Given the description of an element on the screen output the (x, y) to click on. 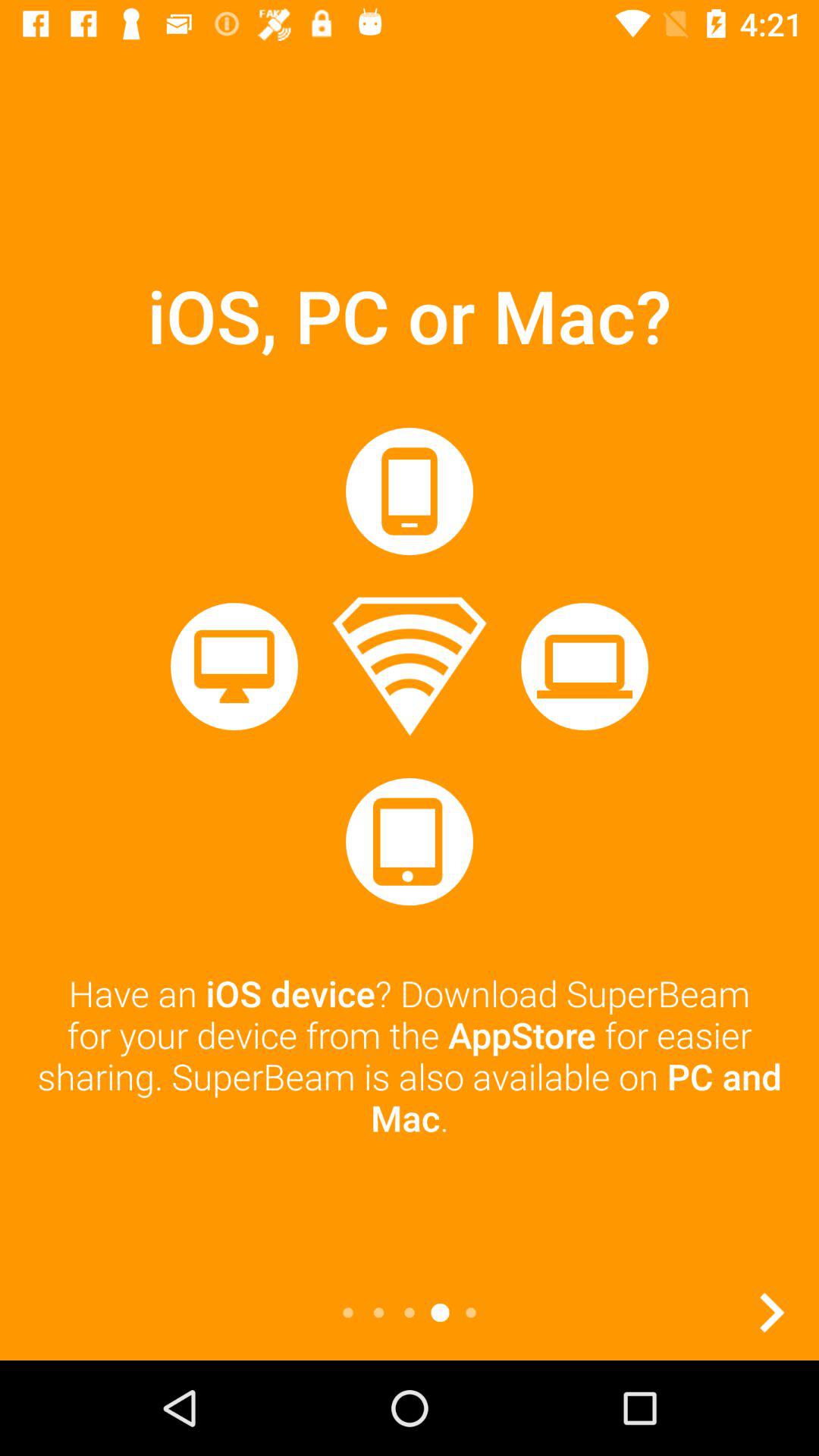
next button (771, 1312)
